Given the description of an element on the screen output the (x, y) to click on. 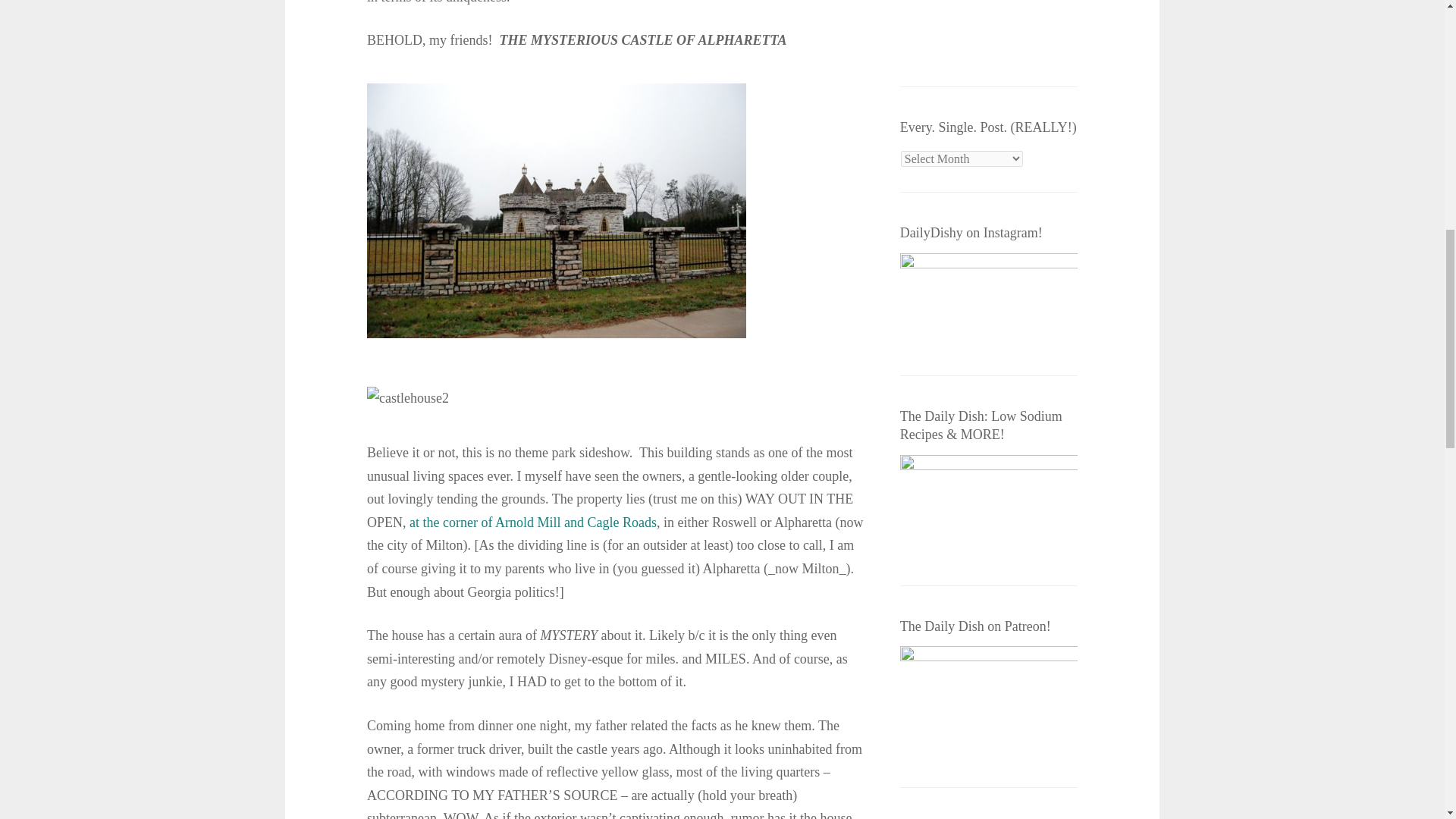
castlehouse2 (407, 398)
at the corner of Arnold Mill and Cagle Roads (532, 522)
castlehouse11 (555, 210)
Christy Ellingsworth - The Daily Dish (984, 33)
